Given the description of an element on the screen output the (x, y) to click on. 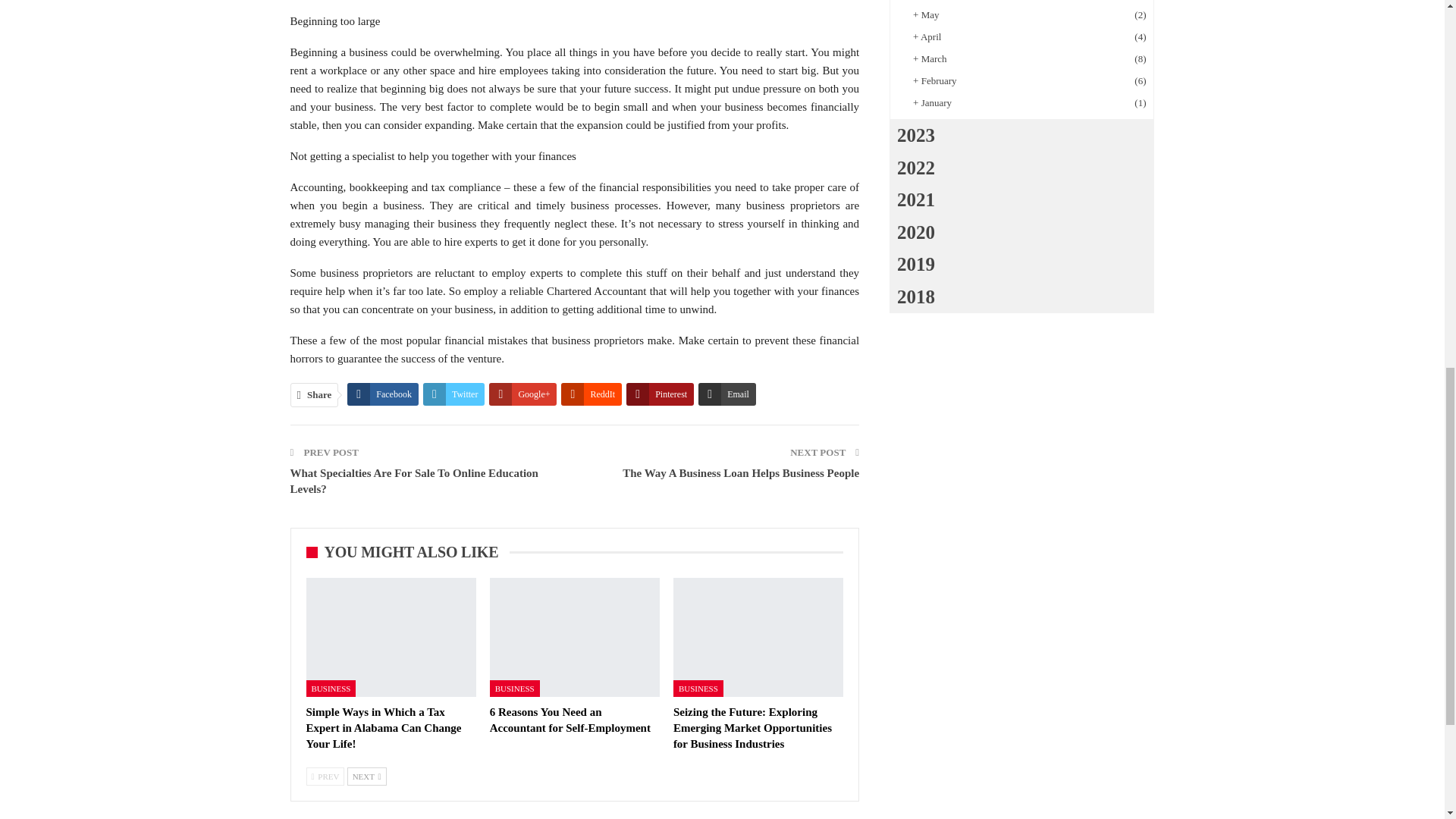
Next (367, 776)
ReddIt (590, 394)
Email (726, 394)
Pinterest (660, 394)
Facebook (383, 394)
6 Reasons You Need an Accountant for Self-Employment (569, 719)
Twitter (453, 394)
Previous (325, 776)
